Given the description of an element on the screen output the (x, y) to click on. 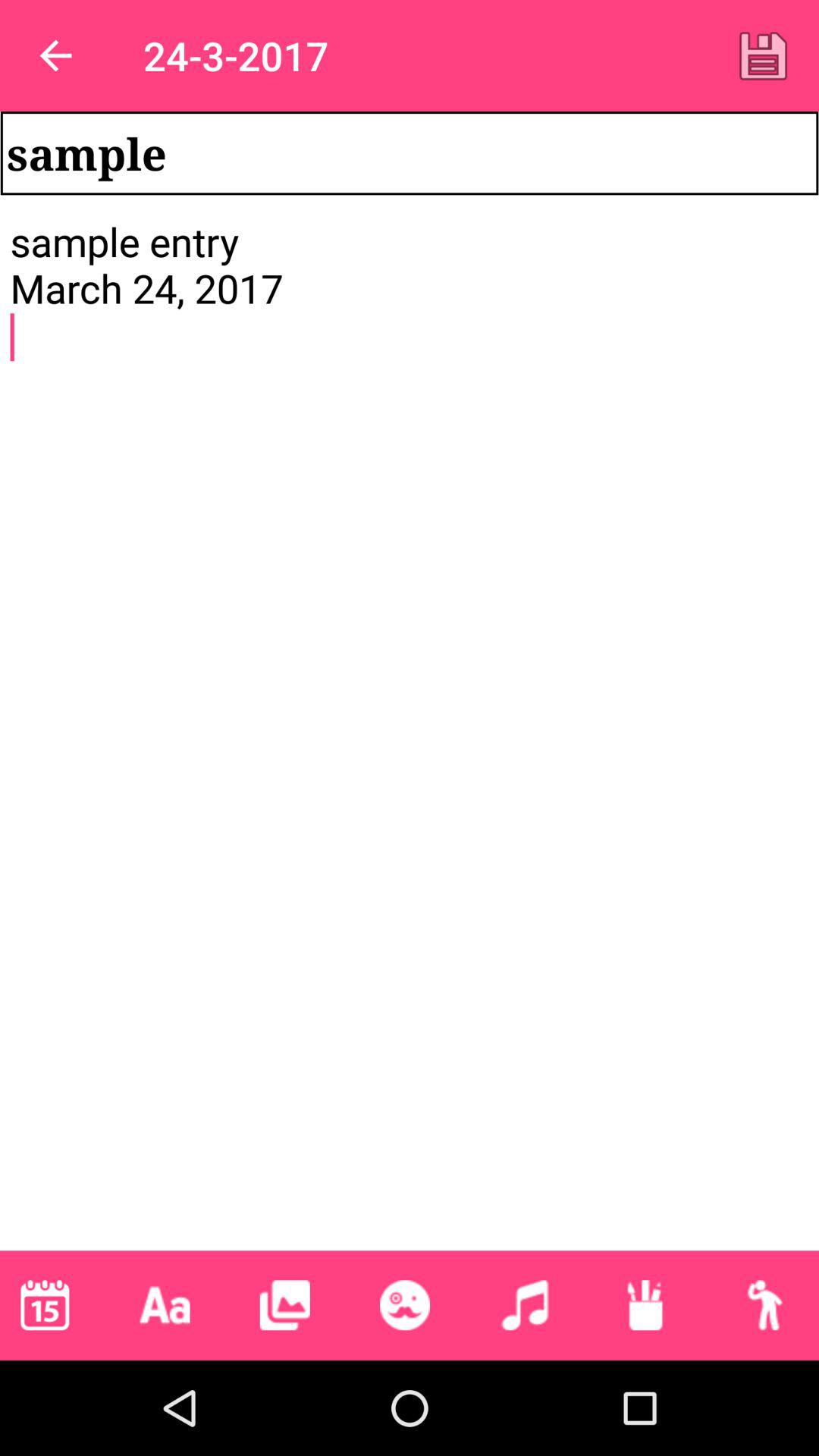
open music (524, 1305)
